Given the description of an element on the screen output the (x, y) to click on. 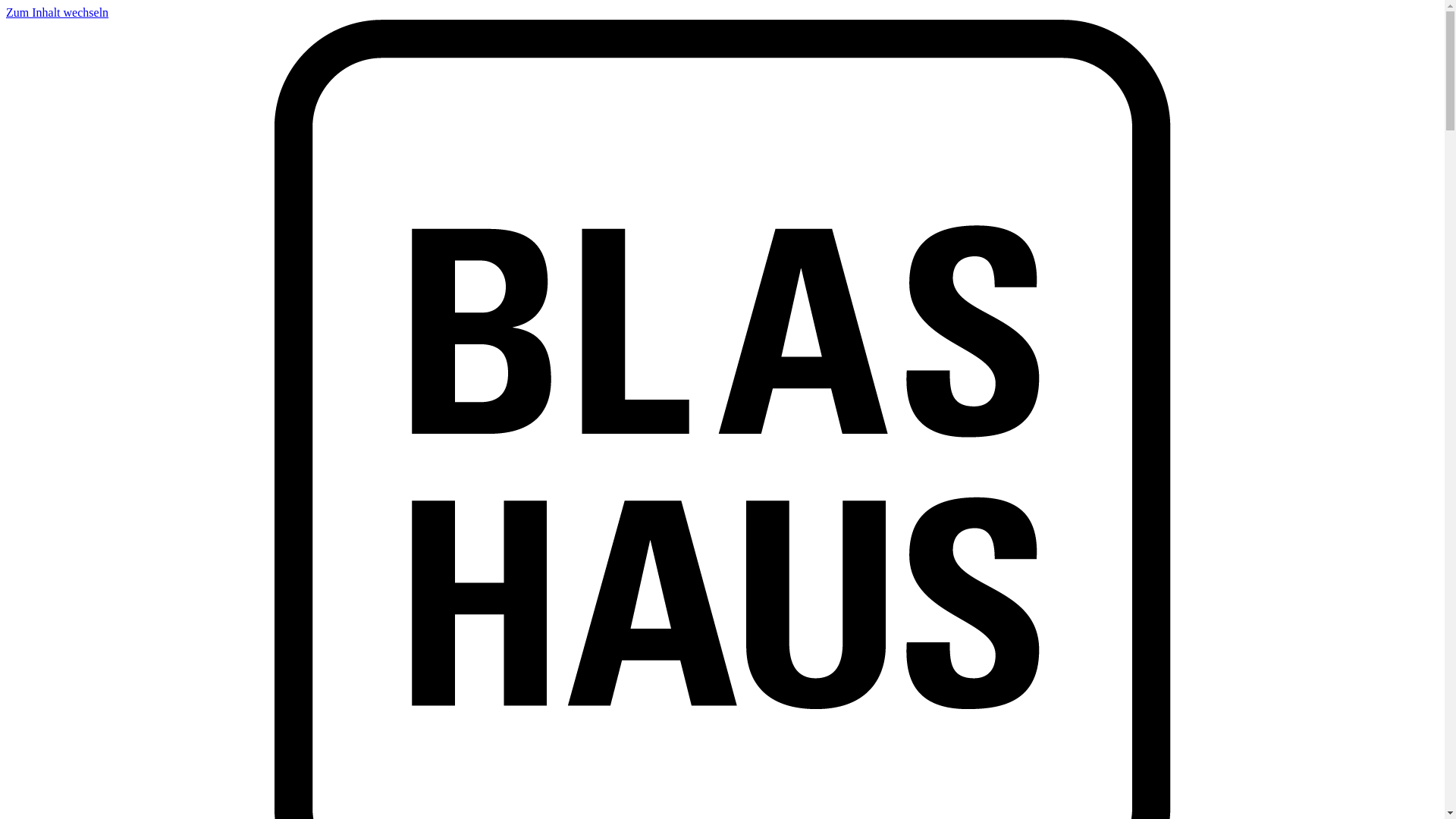
Zum Inhalt wechseln Element type: text (57, 12)
